Given the description of an element on the screen output the (x, y) to click on. 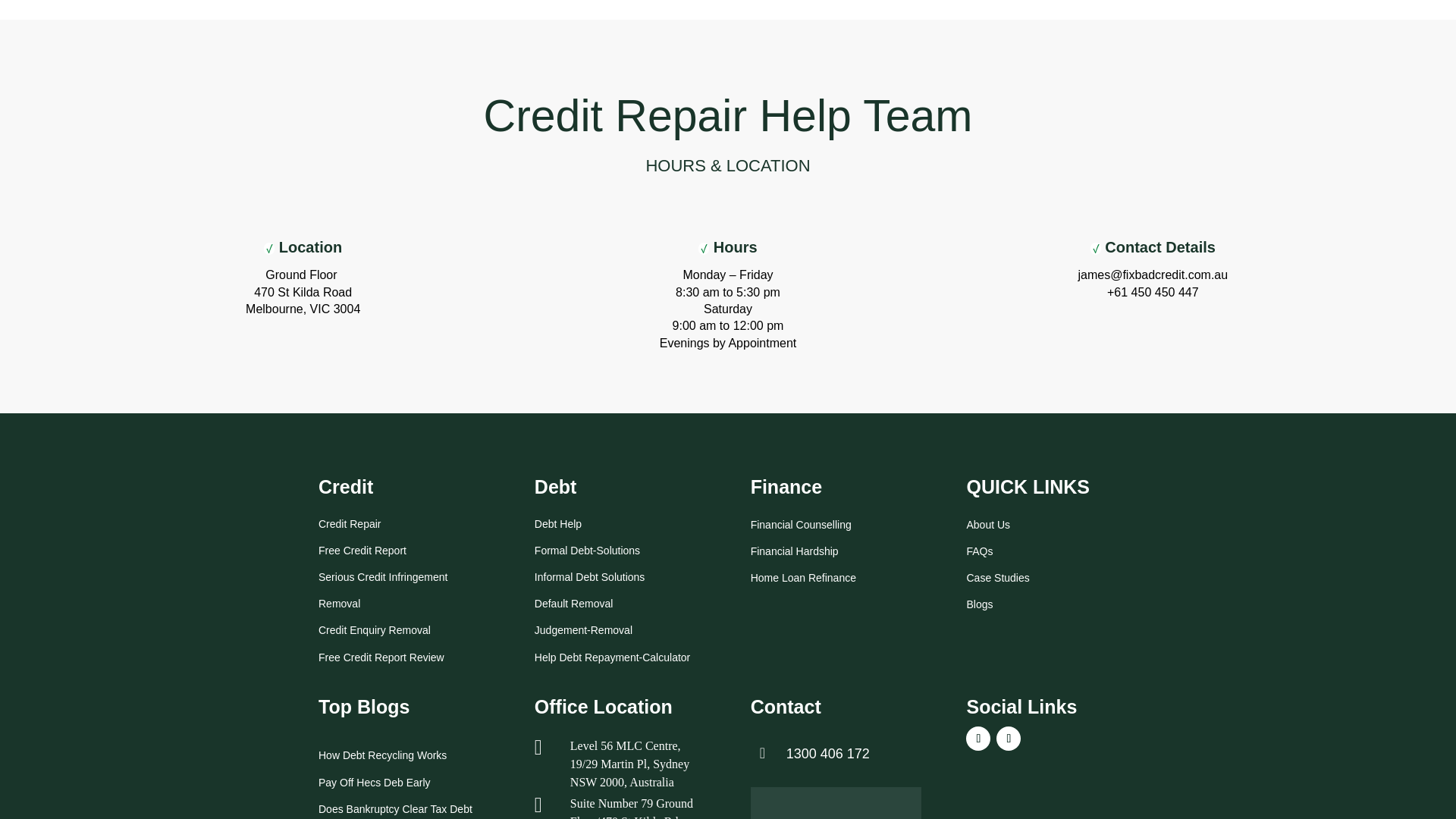
Serious Credit Infringement Removal (382, 589)
Free Credit Report (362, 549)
Follow on Instagram (1007, 738)
Credit Enquiry Removal (374, 629)
Debt Help (557, 522)
Follow on Facebook (978, 738)
Free Credit Report Review (381, 656)
Credit Repair (349, 522)
